Given the description of an element on the screen output the (x, y) to click on. 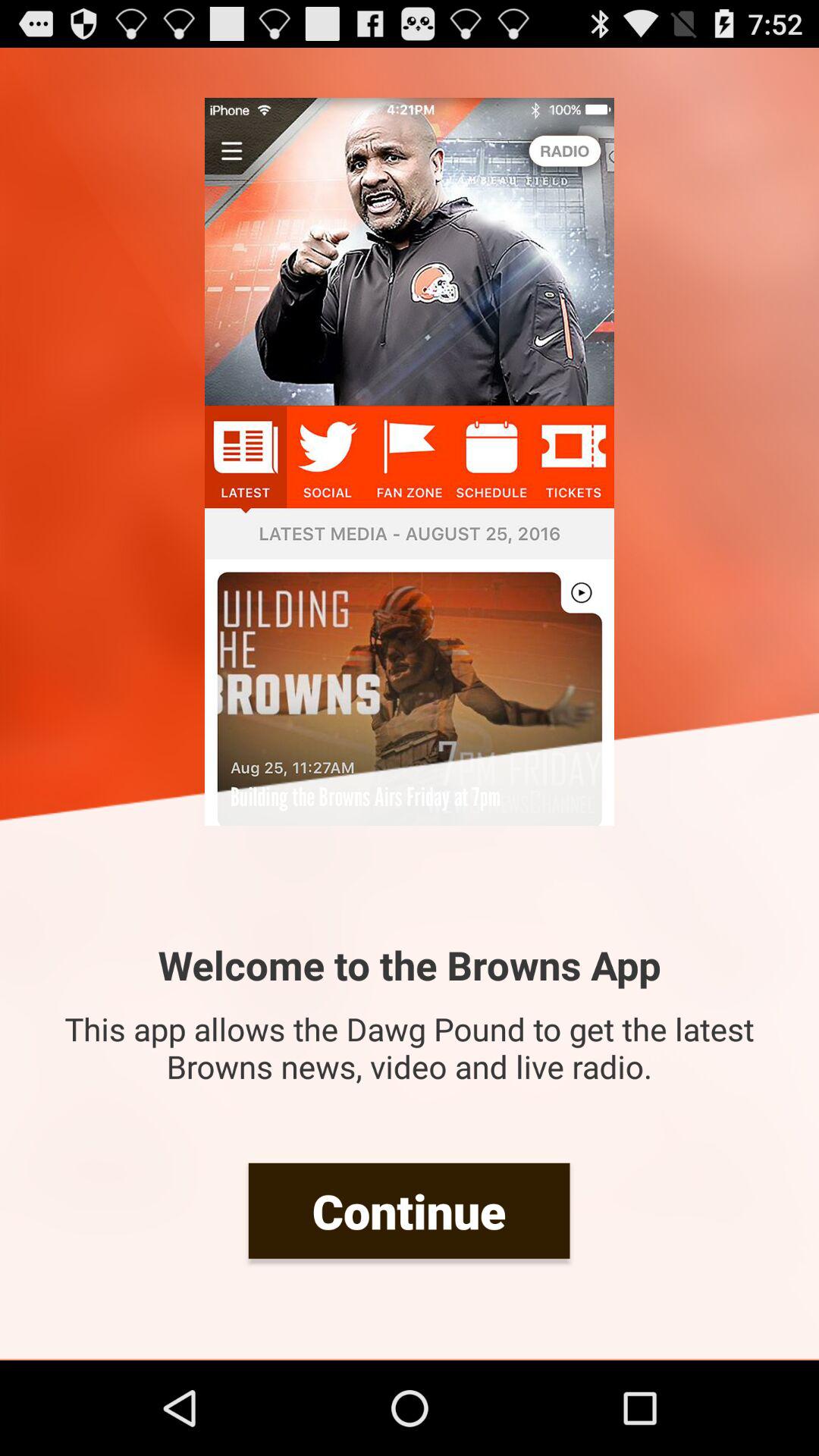
jump to the continue icon (408, 1210)
